Given the description of an element on the screen output the (x, y) to click on. 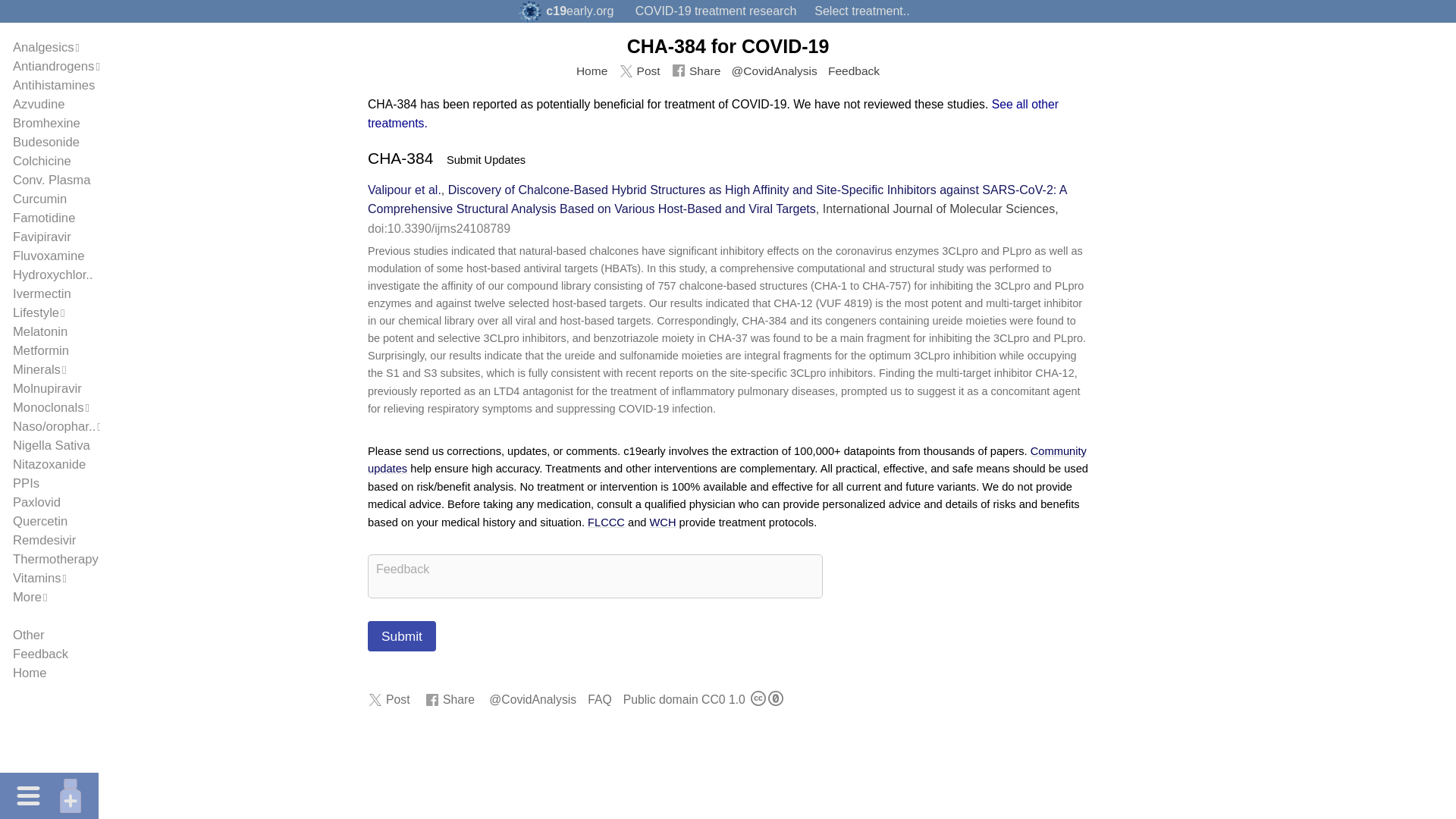
Ivermectin (42, 293)
Conv. Plasma (51, 179)
Antihistamines (53, 84)
Hydroxychlor.. (53, 274)
Molnupiravir (47, 388)
Favipiravir (42, 237)
Bromhexine (46, 123)
Fluvoxamine (48, 255)
Colchicine (42, 160)
Lifestyle (36, 312)
